Given the description of an element on the screen output the (x, y) to click on. 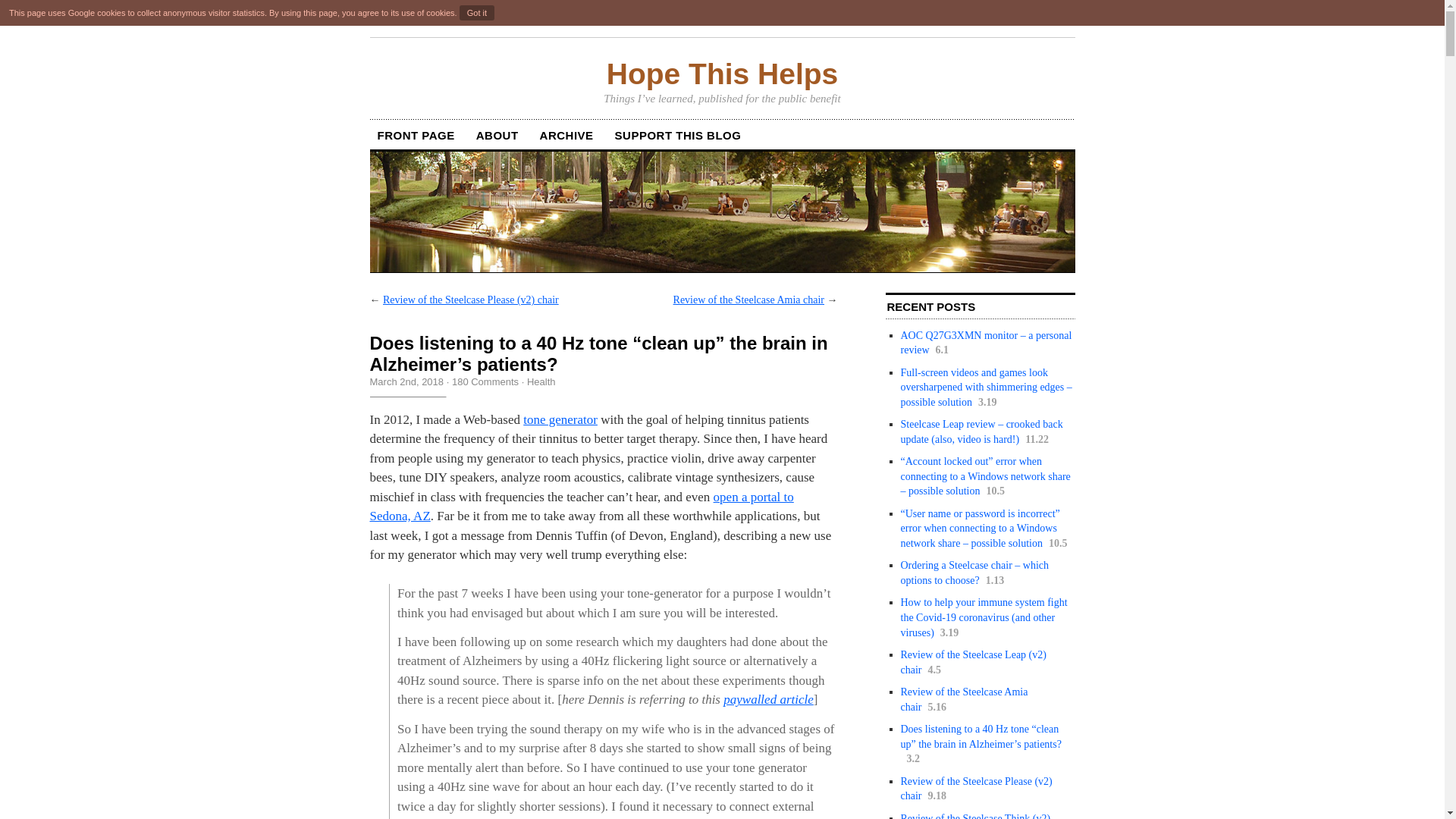
tone generator (559, 419)
paywalled article (768, 699)
SUPPORT THIS BLOG (677, 134)
ABOUT (497, 134)
Health (541, 381)
180 Comments (484, 381)
open a portal to Sedona, AZ (581, 506)
ARCHIVE (567, 134)
go to the front page (722, 73)
Got it (477, 12)
Hope This Helps (722, 73)
FRONT PAGE (415, 134)
Review of the Steelcase Amia chair (748, 299)
